Given the description of an element on the screen output the (x, y) to click on. 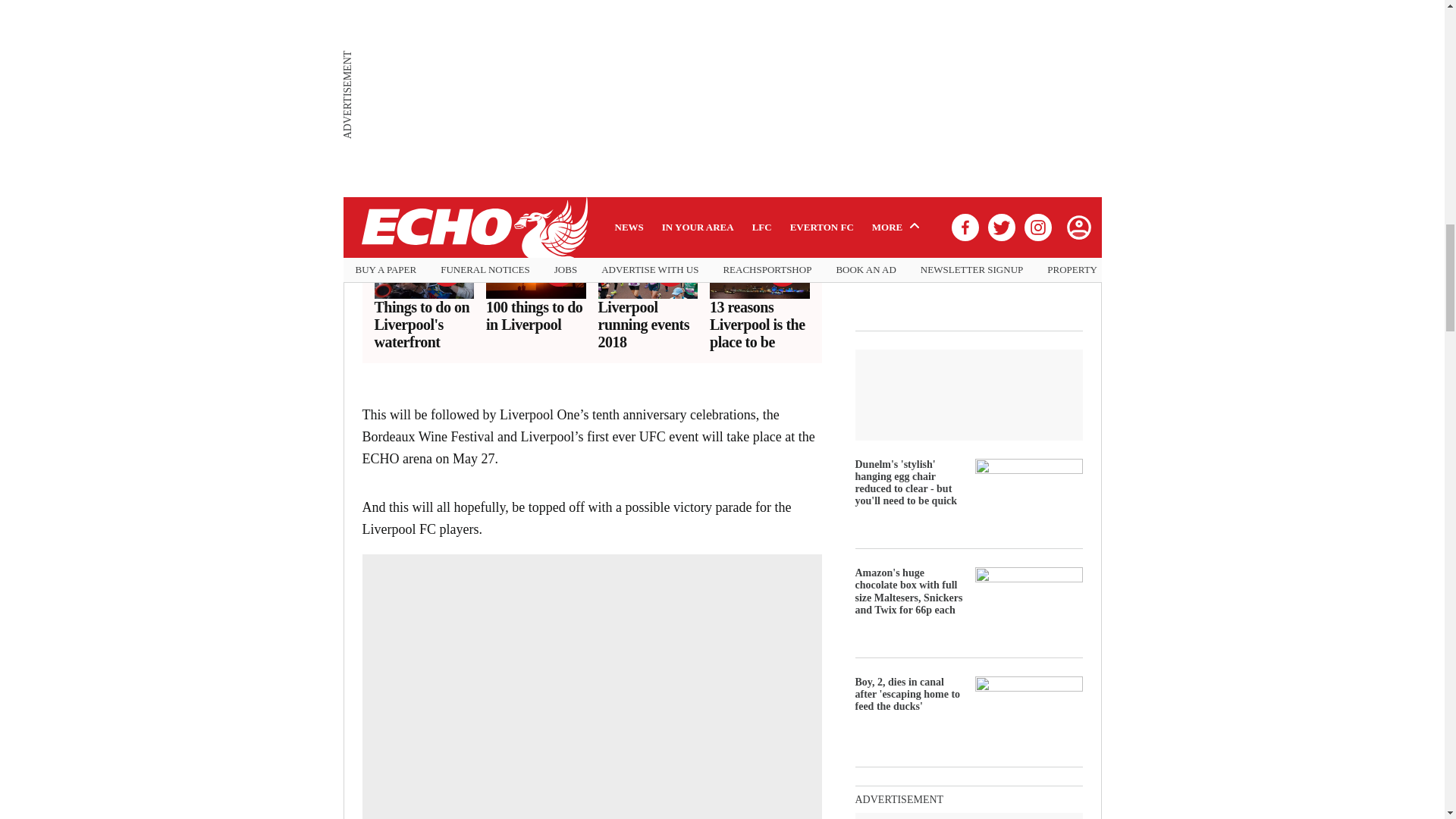
More info (721, 172)
13 reasons Liverpool is the place to be (759, 324)
Things to do on Liverpool's waterfront (424, 324)
Subscribe (771, 126)
100 things to do in Liverpool (536, 315)
Liverpool running events 2018 (646, 324)
